Given the description of an element on the screen output the (x, y) to click on. 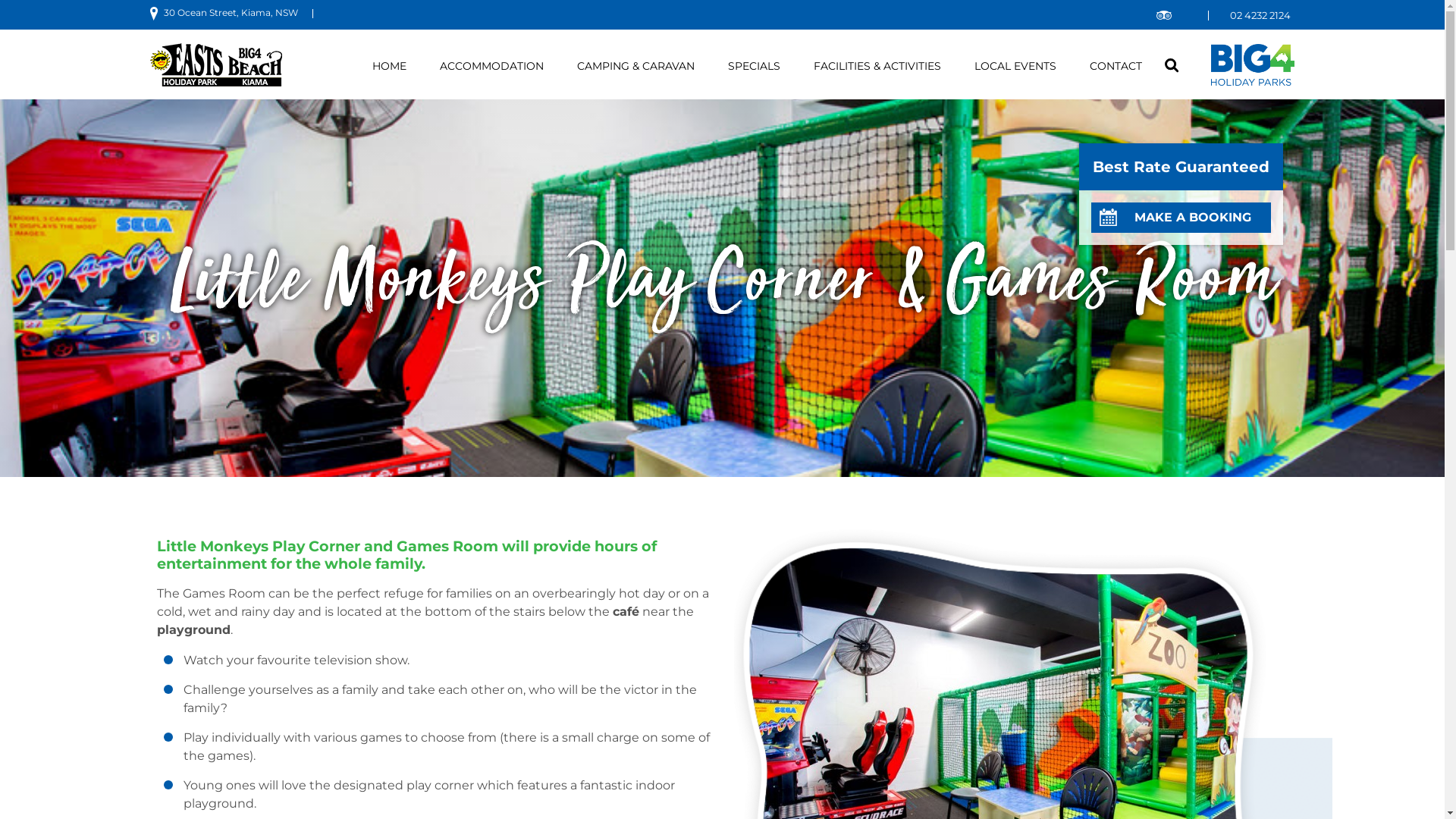
CONTACT Element type: text (1115, 66)
SPECIALS Element type: text (753, 66)
02 4232 2124 Element type: text (1260, 15)
Find us on TripAdvisor Element type: hover (1162, 16)
MAKE A BOOKING Element type: text (1180, 216)
LOCAL EVENTS Element type: text (1015, 66)
FACILITIES & ACTIVITIES Element type: text (877, 66)
playground Element type: text (192, 629)
HOME Element type: text (389, 66)
CAMPING & CARAVAN Element type: text (635, 66)
ACCOMMODATION Element type: text (491, 66)
